Given the description of an element on the screen output the (x, y) to click on. 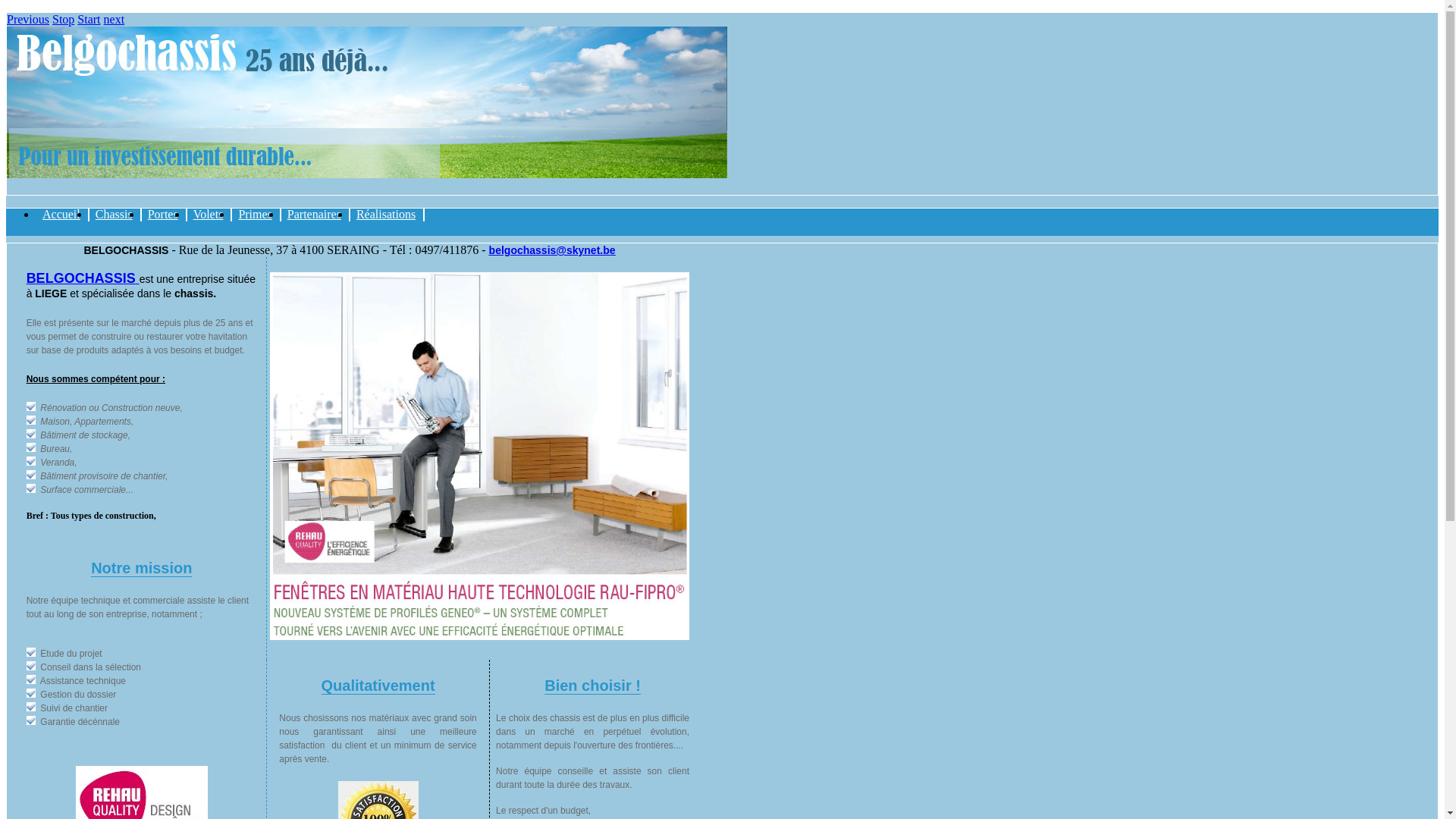
Primes Element type: text (256, 214)
belgochassis@skynet.be Element type: text (552, 250)
next Element type: text (114, 18)
Volets Element type: text (209, 214)
Partenaires Element type: text (315, 214)
Portes Element type: text (164, 214)
Stop Element type: text (63, 18)
BELGOCHASSIS Element type: text (82, 287)
Start Element type: text (88, 18)
Accueil Element type: text (62, 214)
Previous Element type: text (27, 18)
Chassis Element type: text (115, 214)
